Given the description of an element on the screen output the (x, y) to click on. 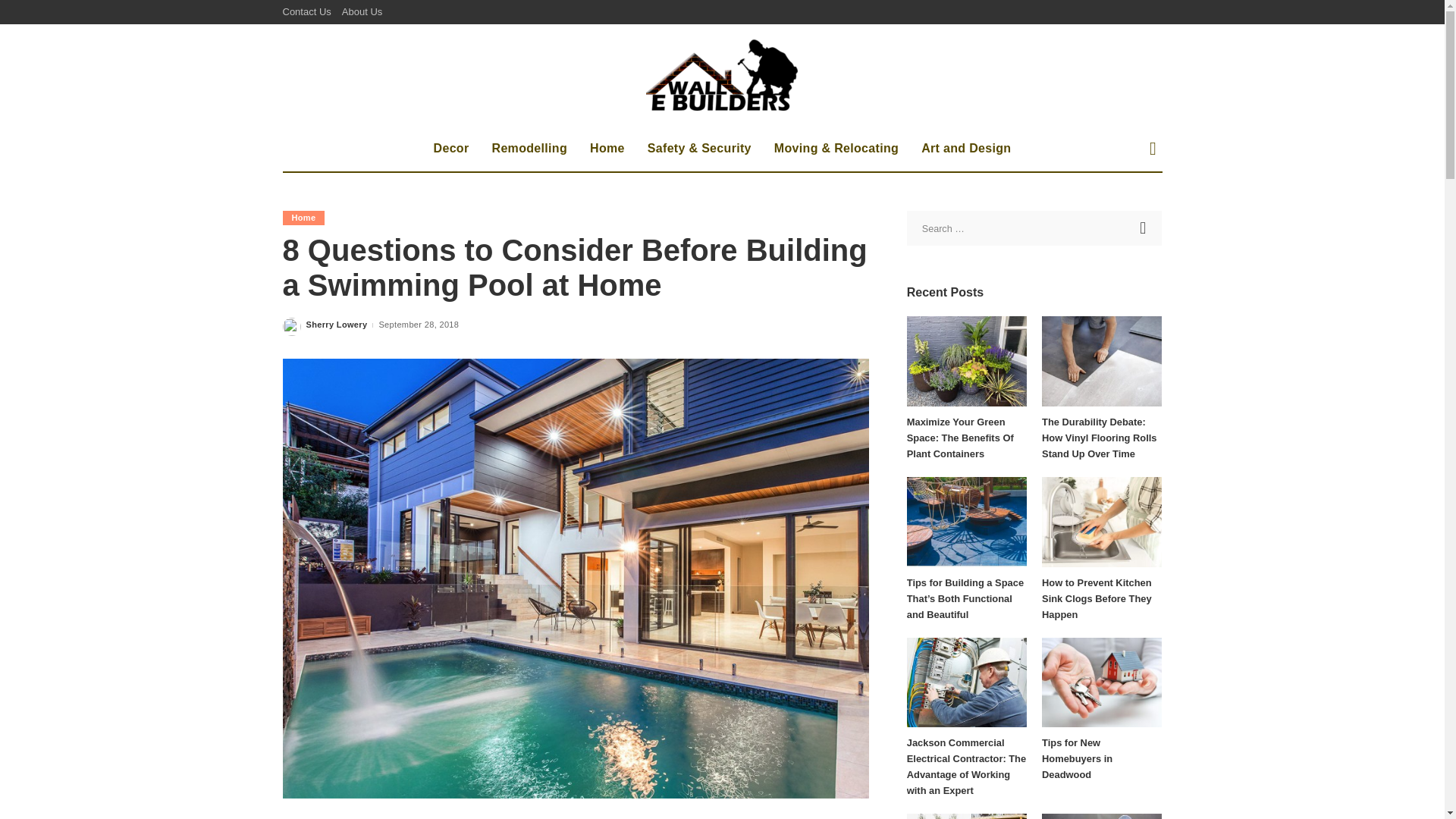
Remodelling (529, 148)
Wall-Ebuilders (721, 74)
Search (1143, 227)
Contact Us (309, 11)
Home (607, 148)
About Us (361, 11)
Search (1140, 201)
Art and Design (966, 148)
Sherry Lowery (336, 324)
Decor (451, 148)
Search (1143, 227)
Home (303, 217)
